Given the description of an element on the screen output the (x, y) to click on. 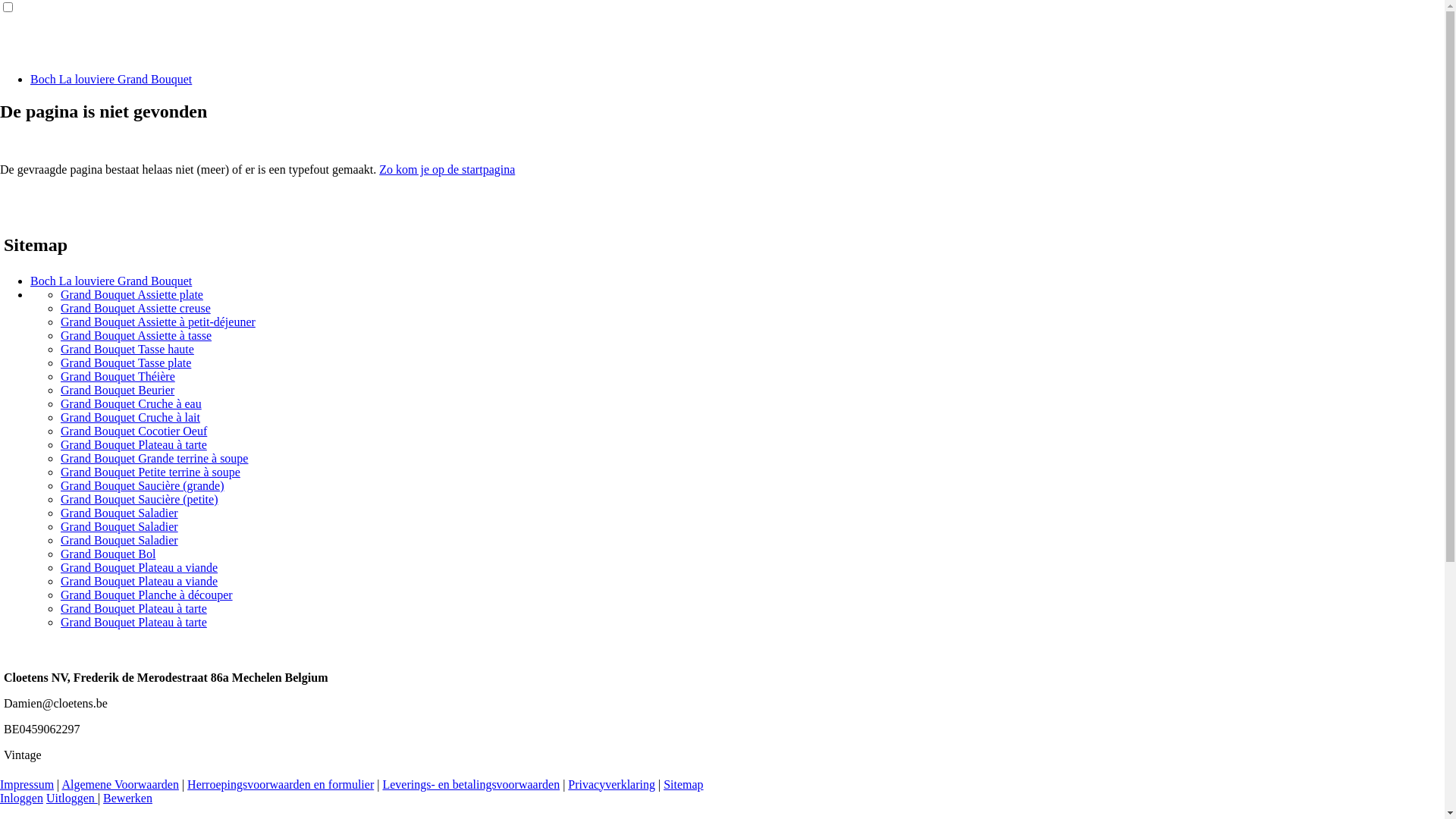
Algemene Voorwaarden Element type: text (119, 784)
Grand Bouquet Saladier Element type: text (119, 526)
Bewerken Element type: text (127, 797)
Inloggen Element type: text (21, 797)
Privacyverklaring Element type: text (611, 784)
Grand Bouquet Cocotier Oeuf Element type: text (133, 430)
Grand Bouquet Assiette plate Element type: text (131, 294)
Grand Bouquet Bol Element type: text (107, 553)
Grand Bouquet Plateau a viande Element type: text (138, 567)
Grand Bouquet Saladier Element type: text (119, 512)
Uitloggen Element type: text (71, 797)
Grand Bouquet Plateau a viande Element type: text (138, 580)
Herroepingsvoorwaarden en formulier Element type: text (280, 784)
Leverings- en betalingsvoorwaarden Element type: text (470, 784)
Impressum Element type: text (26, 784)
Boch La louviere Grand Bouquet Element type: text (110, 78)
Grand Bouquet Beurier Element type: text (117, 389)
Grand Bouquet Tasse haute Element type: text (127, 348)
Boch La louviere Grand Bouquet Element type: text (110, 280)
Grand Bouquet Saladier Element type: text (119, 539)
Zo kom je op de startpagina Element type: text (446, 169)
Sitemap Element type: text (682, 784)
Grand Bouquet Assiette creuse Element type: text (135, 307)
Grand Bouquet Tasse plate Element type: text (125, 362)
